Given the description of an element on the screen output the (x, y) to click on. 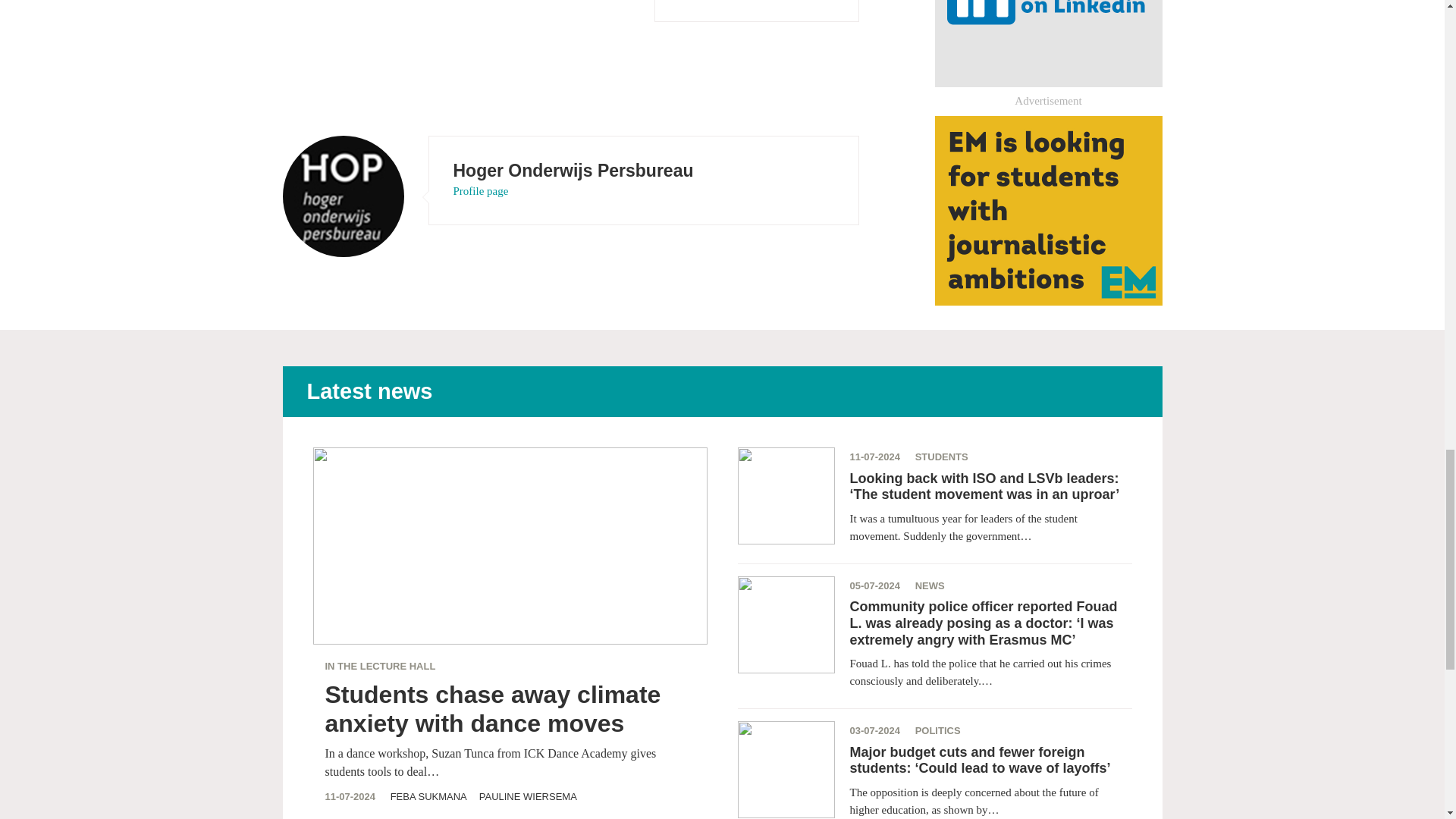
Profile page (480, 191)
